Given the description of an element on the screen output the (x, y) to click on. 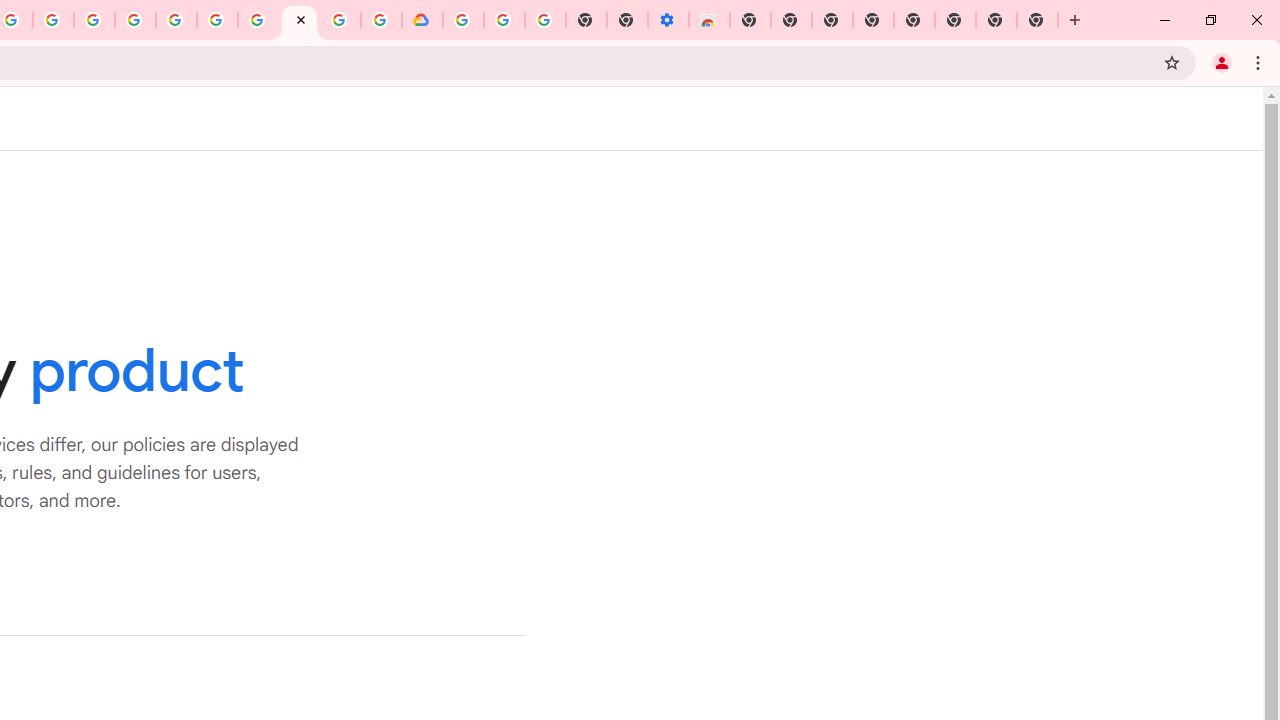
New Tab (1037, 20)
Chrome Web Store - Accessibility extensions (708, 20)
Create your Google Account (340, 20)
Google Account Help (503, 20)
Sign in - Google Accounts (176, 20)
Google Account Help (258, 20)
